Given the description of an element on the screen output the (x, y) to click on. 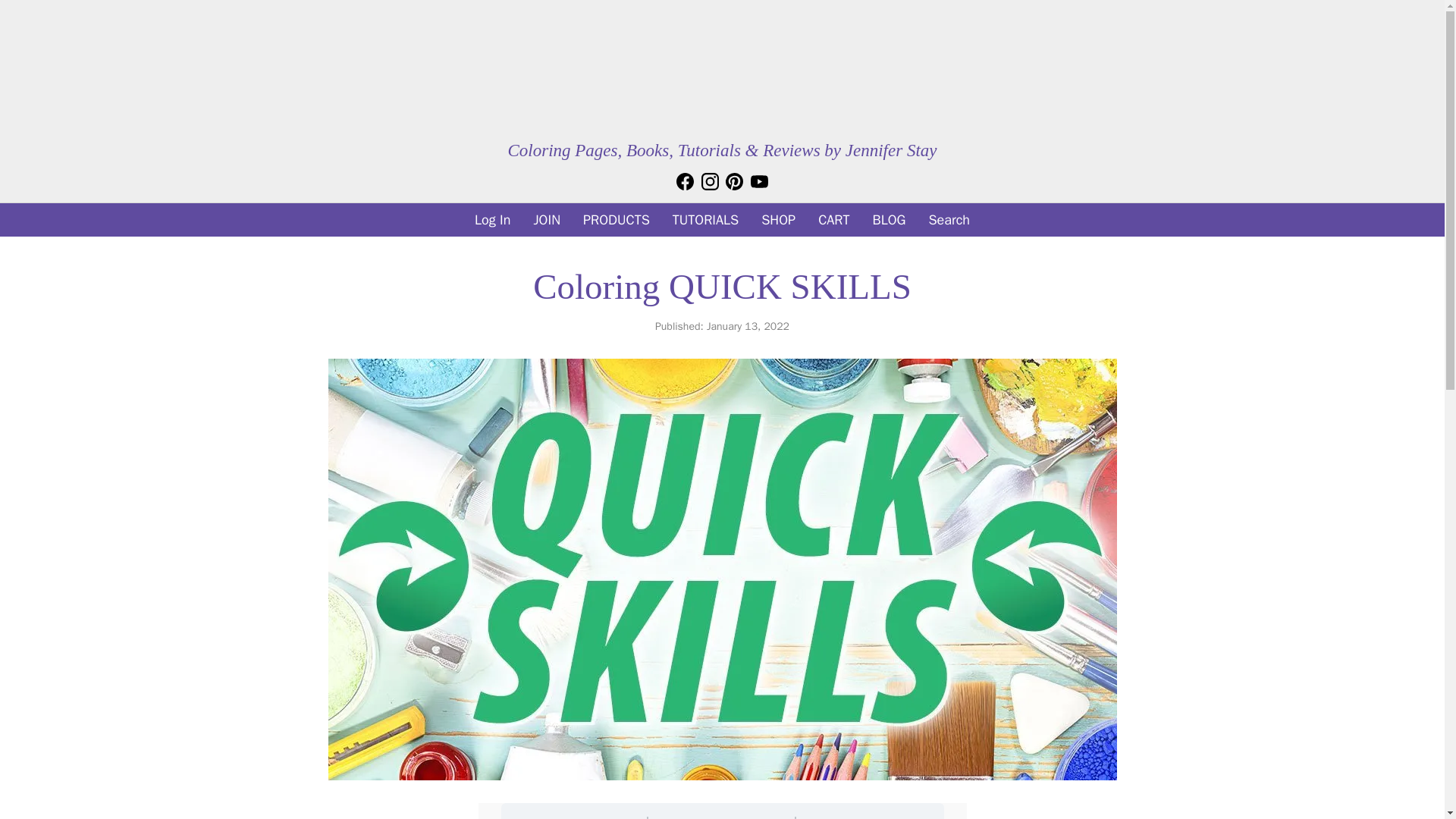
Coloring Pages Blog (888, 219)
Coloring Products (616, 219)
Log In (492, 219)
Search Coloring Bliss (948, 219)
Shopping Cart (833, 219)
Coloring Workshop Tutorials (705, 219)
Search (948, 219)
2022-01-13 (747, 326)
SHOP (777, 219)
BLOG (888, 219)
